Given the description of an element on the screen output the (x, y) to click on. 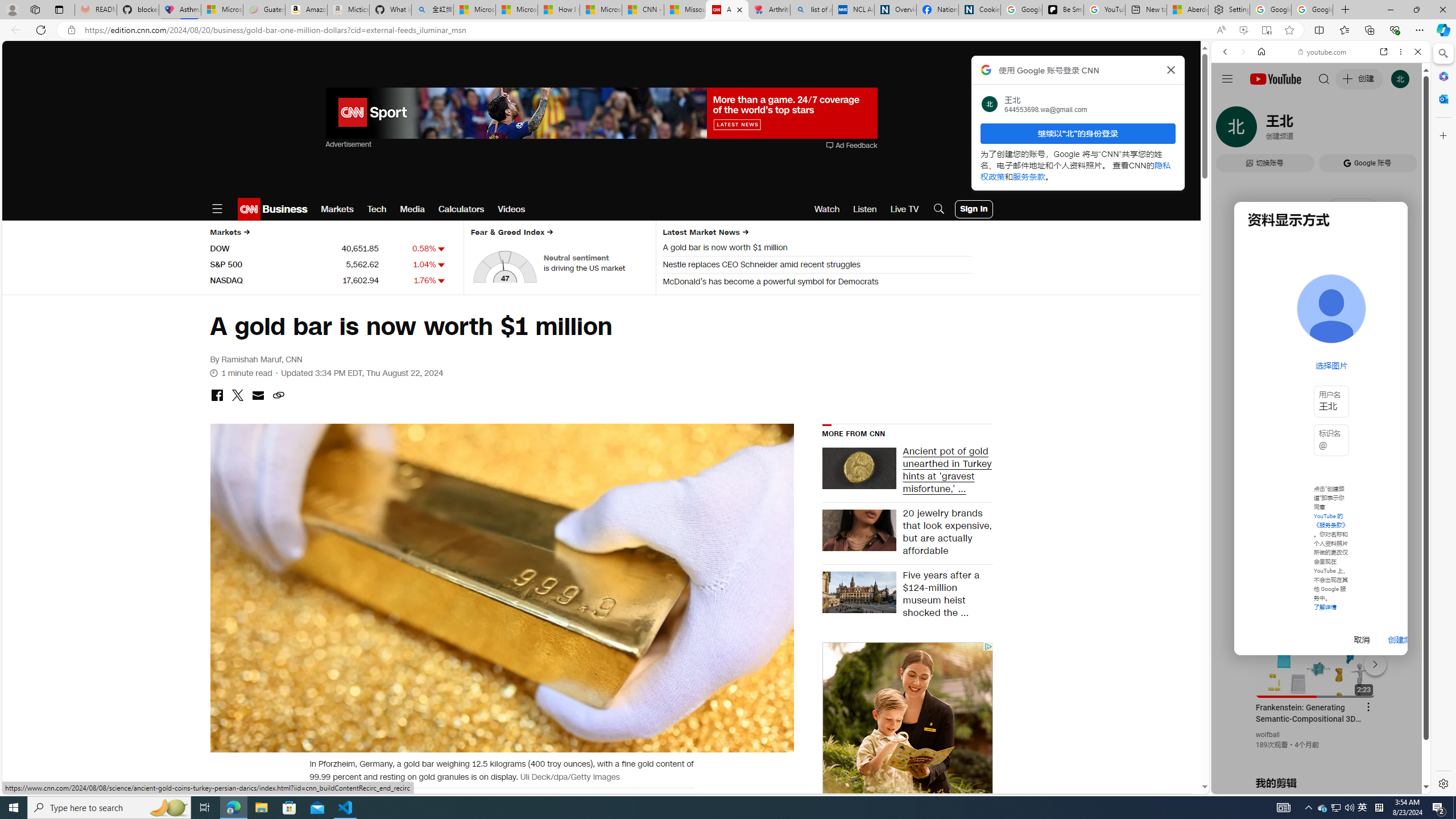
Open Menu Icon (216, 208)
Class: market-fng-gauge__hand-svg (504, 270)
AutomationID: sa-adchoices (987, 646)
Live TV (903, 208)
Search videos from youtube.com (1299, 373)
